Given the description of an element on the screen output the (x, y) to click on. 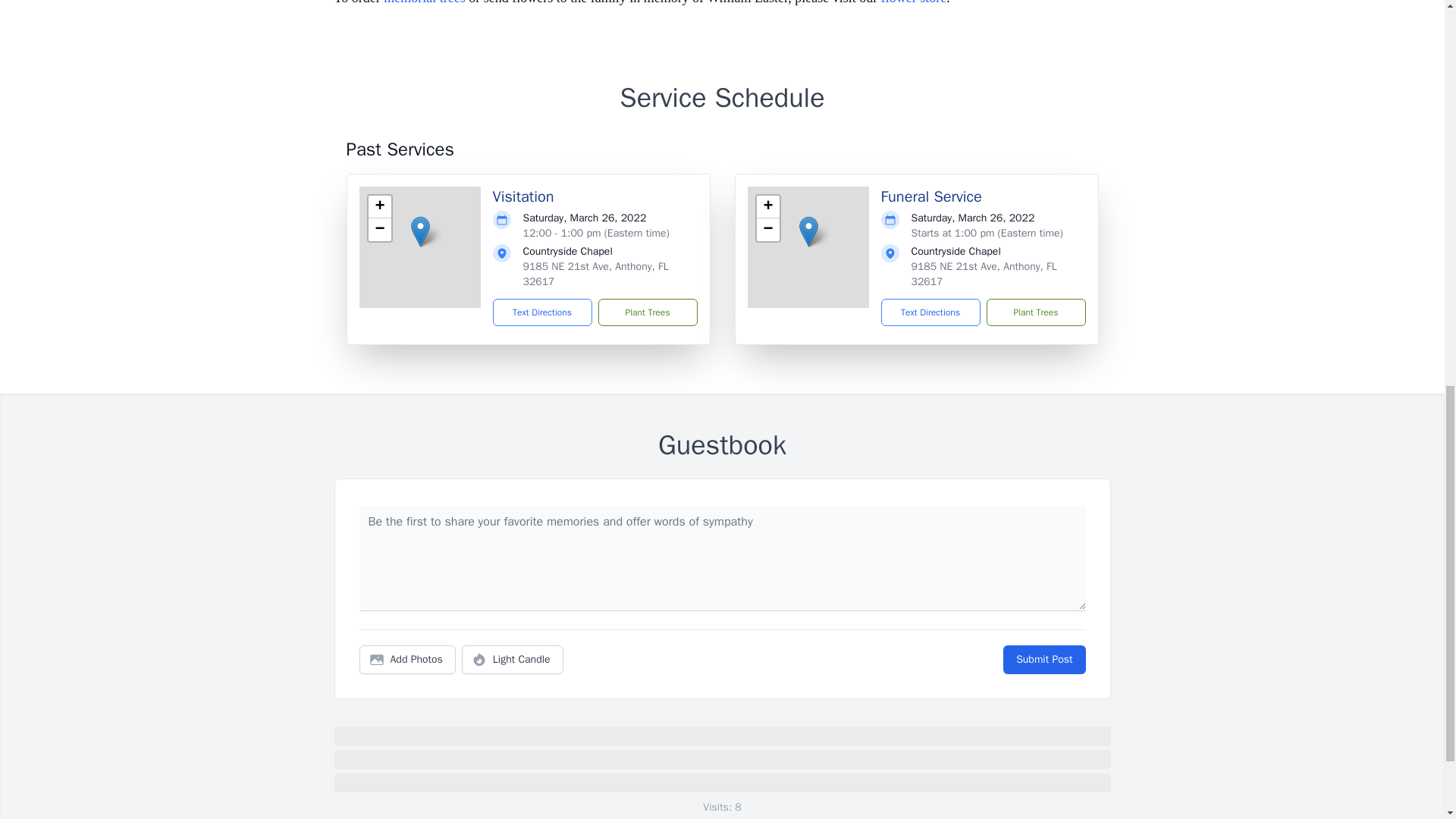
Zoom in (379, 206)
Text Directions (929, 311)
Plant Trees (1034, 311)
9185 NE 21st Ave, Anthony, FL 32617 (595, 274)
Plant Trees (646, 311)
9185 NE 21st Ave, Anthony, FL 32617 (984, 274)
Text Directions (542, 311)
Zoom in (767, 206)
Zoom out (767, 229)
Add Photos (407, 659)
Zoom out (379, 229)
Light Candle (512, 659)
flower store (913, 2)
memorial trees (424, 2)
Submit Post (1043, 659)
